Given the description of an element on the screen output the (x, y) to click on. 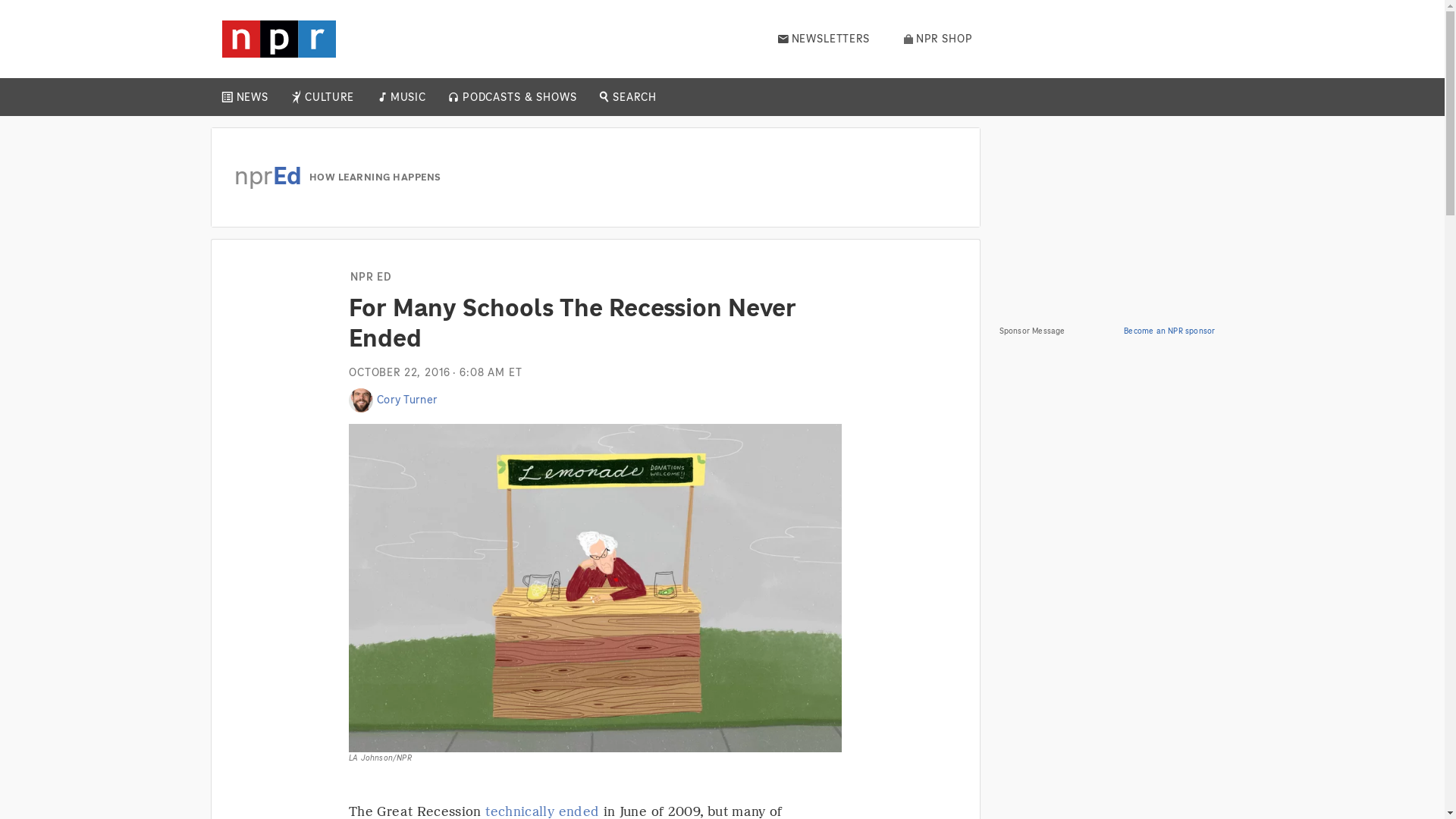
NEWSLETTERS (823, 38)
NPR SHOP (938, 38)
MUSIC (407, 96)
NEWS (251, 96)
CULTURE (328, 96)
